Given the description of an element on the screen output the (x, y) to click on. 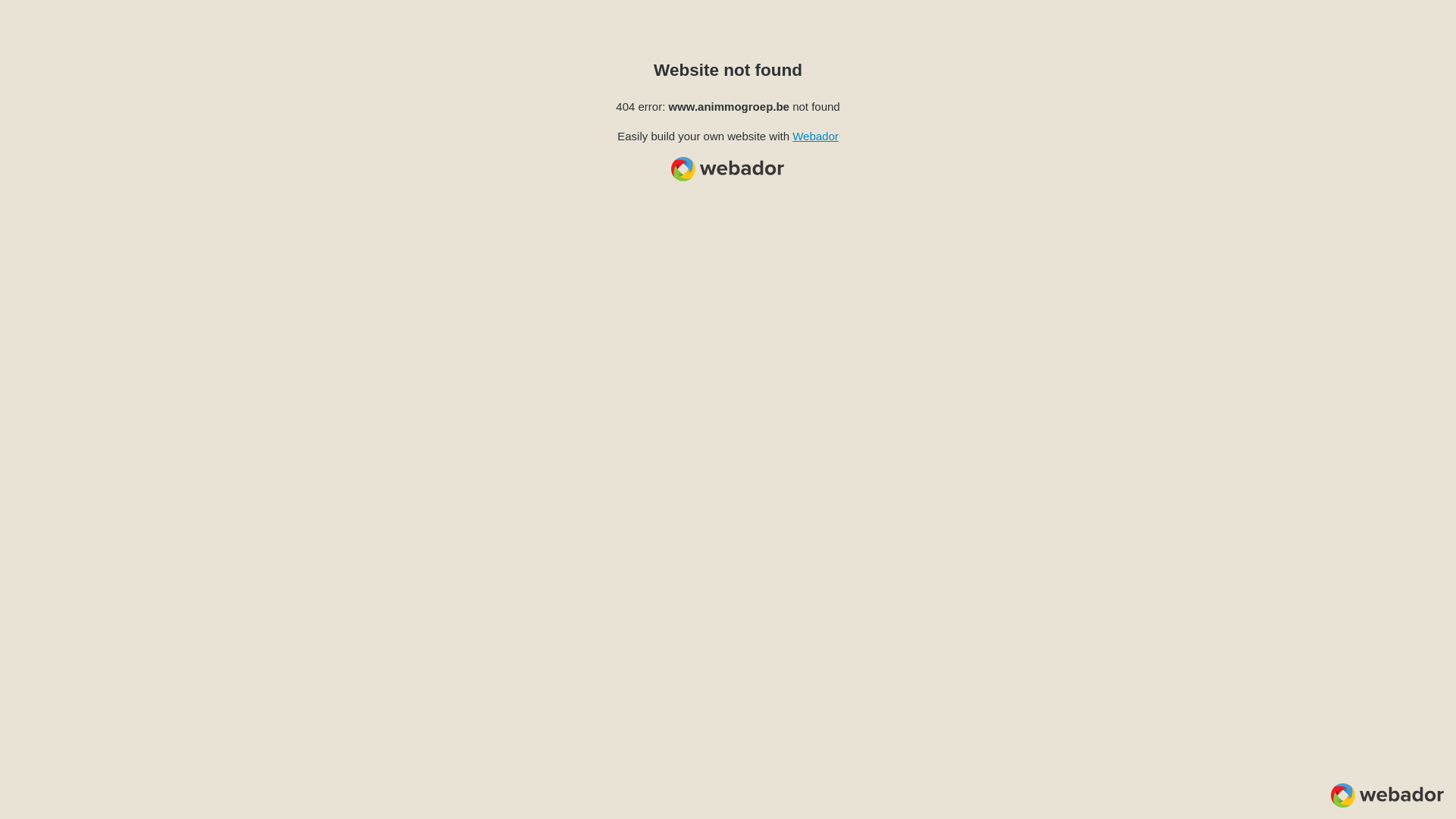
Webador Element type: text (815, 135)
